Given the description of an element on the screen output the (x, y) to click on. 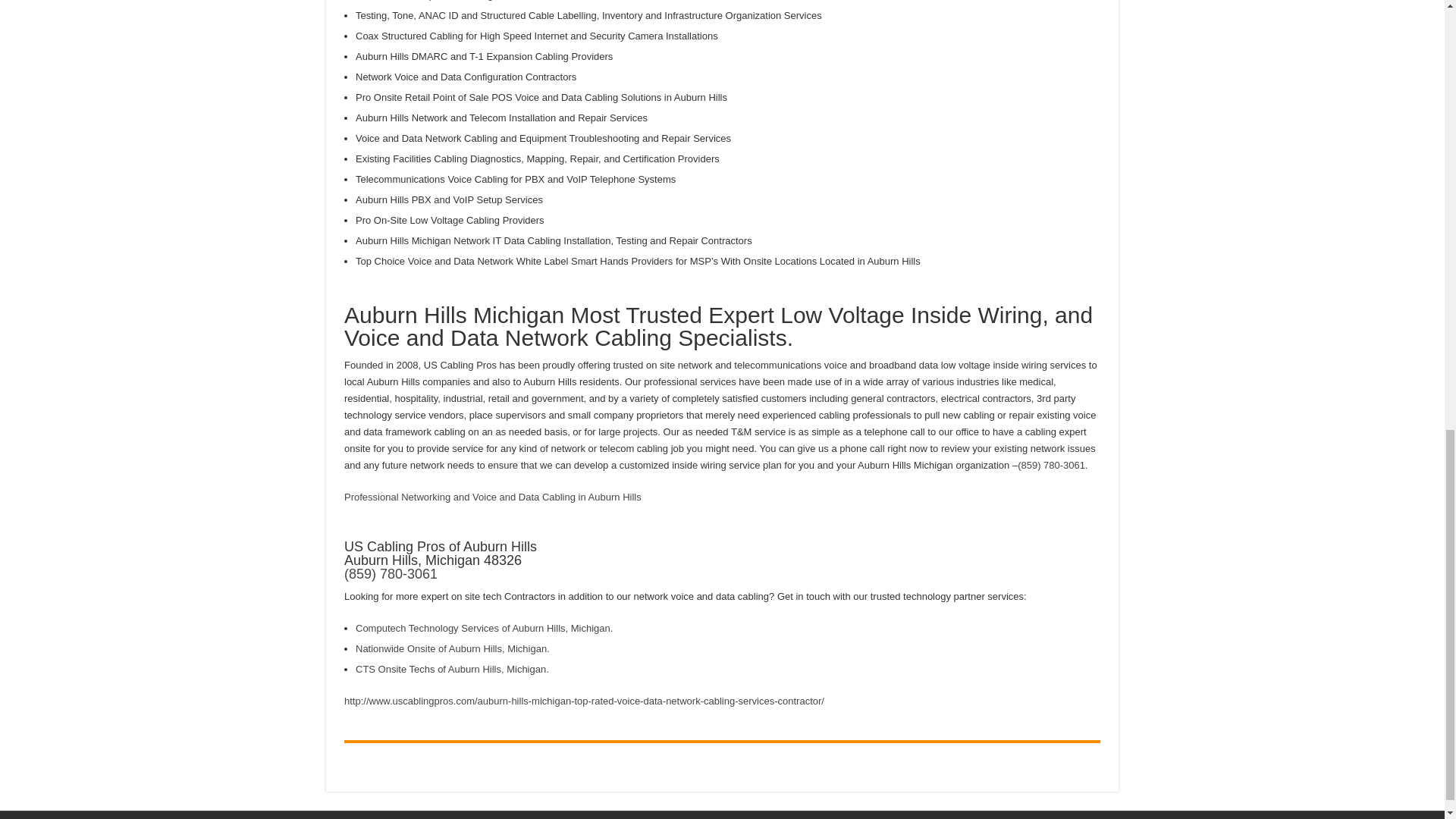
CTS Onsite Techs of Auburn Hills, Michigan. (451, 668)
Auburn Hills (615, 496)
Computech Technology Services of Auburn Hills, Michigan. (483, 627)
Professional Networking and Voice and Data Cabling in (465, 496)
Nationwide Onsite of Auburn Hills, Michigan. (452, 648)
